Given the description of an element on the screen output the (x, y) to click on. 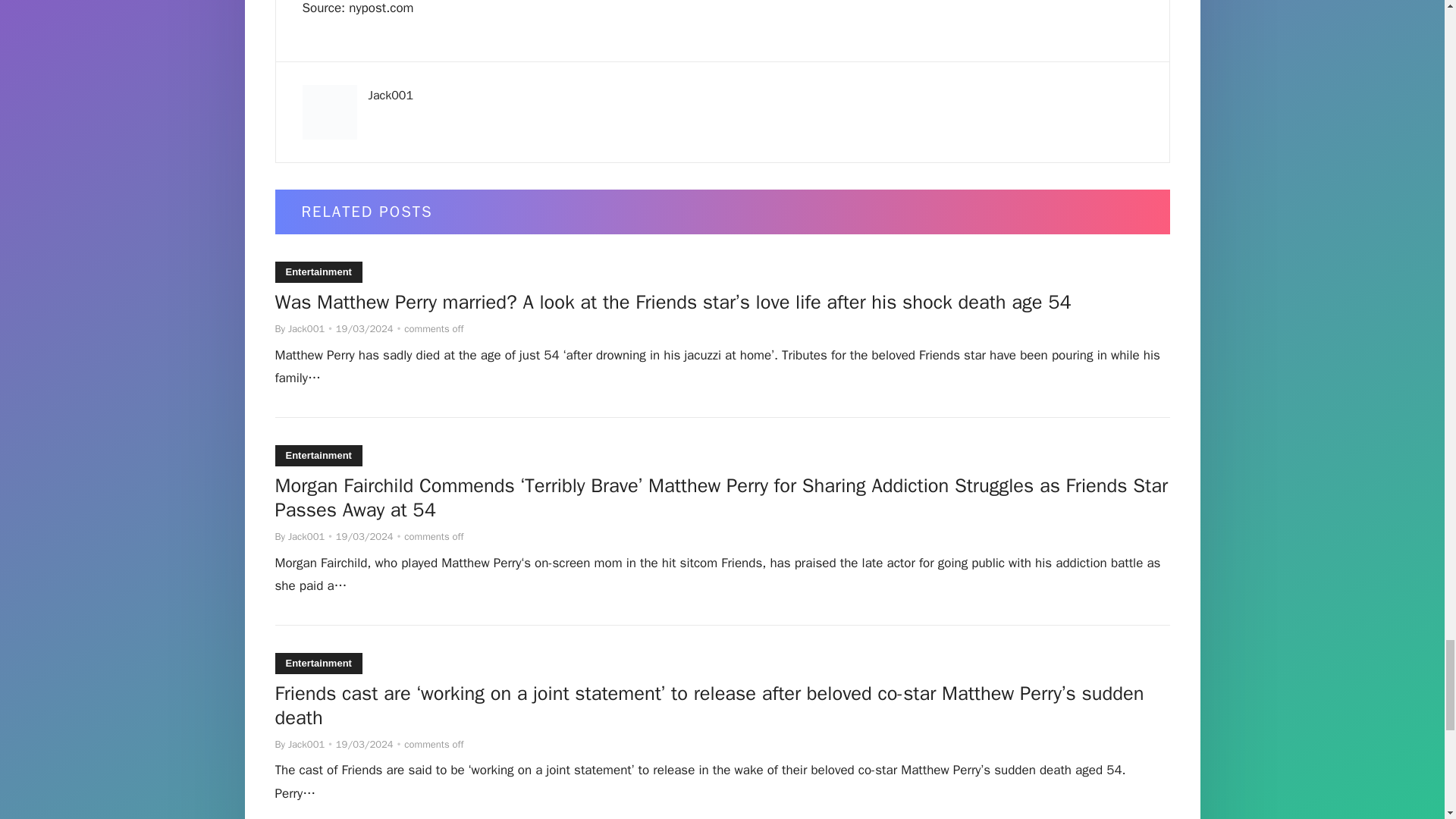
Entertainment (318, 455)
Jack001 (306, 328)
Jack001 (306, 535)
Entertainment (318, 271)
Jack001 (390, 95)
Entertainment (318, 663)
Jack001 (306, 744)
